Given the description of an element on the screen output the (x, y) to click on. 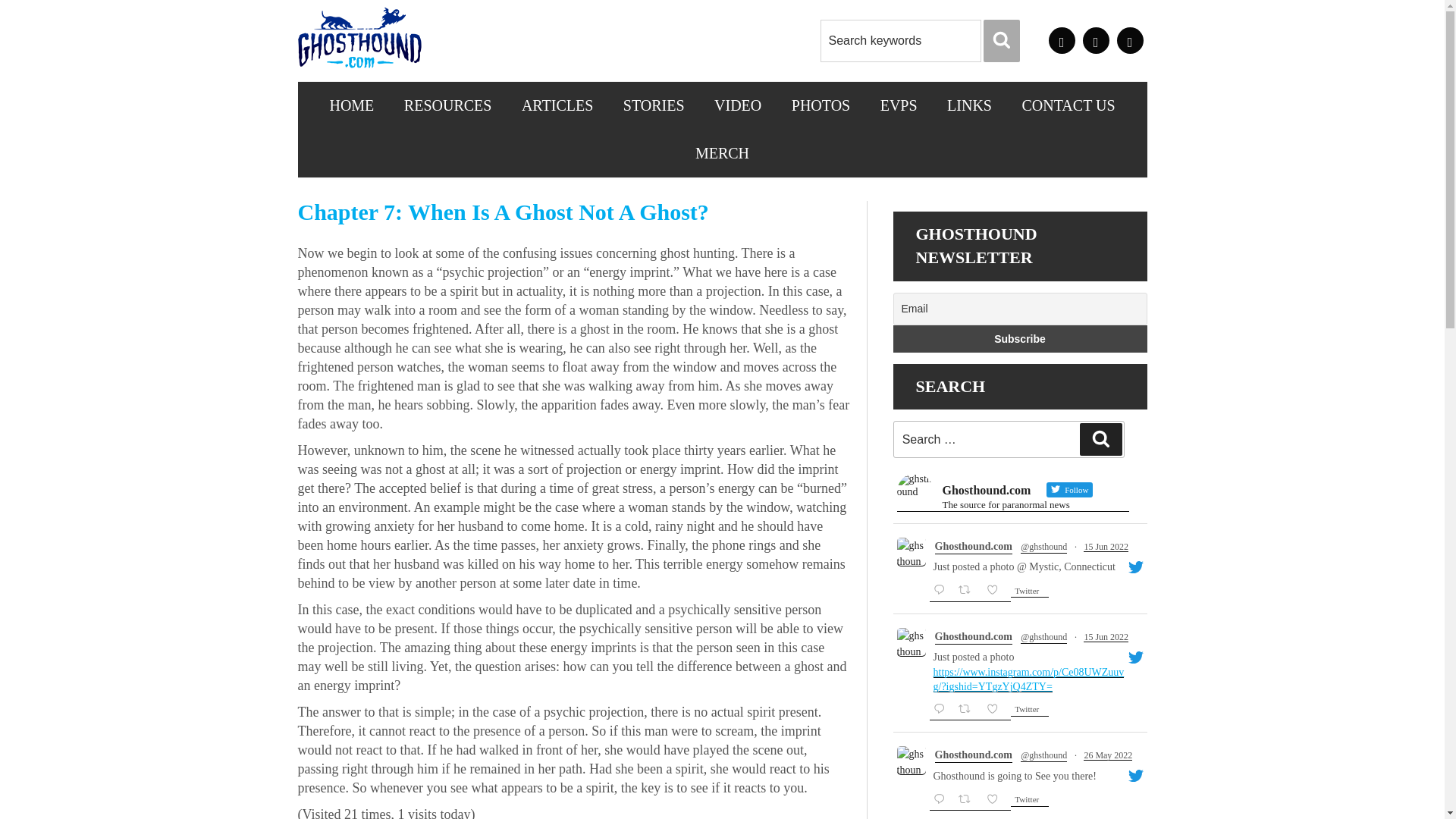
Reply on Twitter 1537061352434307072 (942, 591)
Ghosthound.com (972, 636)
LINKS (969, 105)
EVPS (898, 105)
RESOURCES (447, 105)
Search (1002, 40)
Subscribe (1020, 338)
VIDEO (737, 105)
Like on Twitter 1537061352434307072 (996, 591)
STORIES (654, 105)
Twitter 1537061352434307072 (1029, 590)
CONTACT US (1069, 105)
Subscribe (1020, 338)
Retweet on Twitter 1537061352434307072 (968, 591)
